Given the description of an element on the screen output the (x, y) to click on. 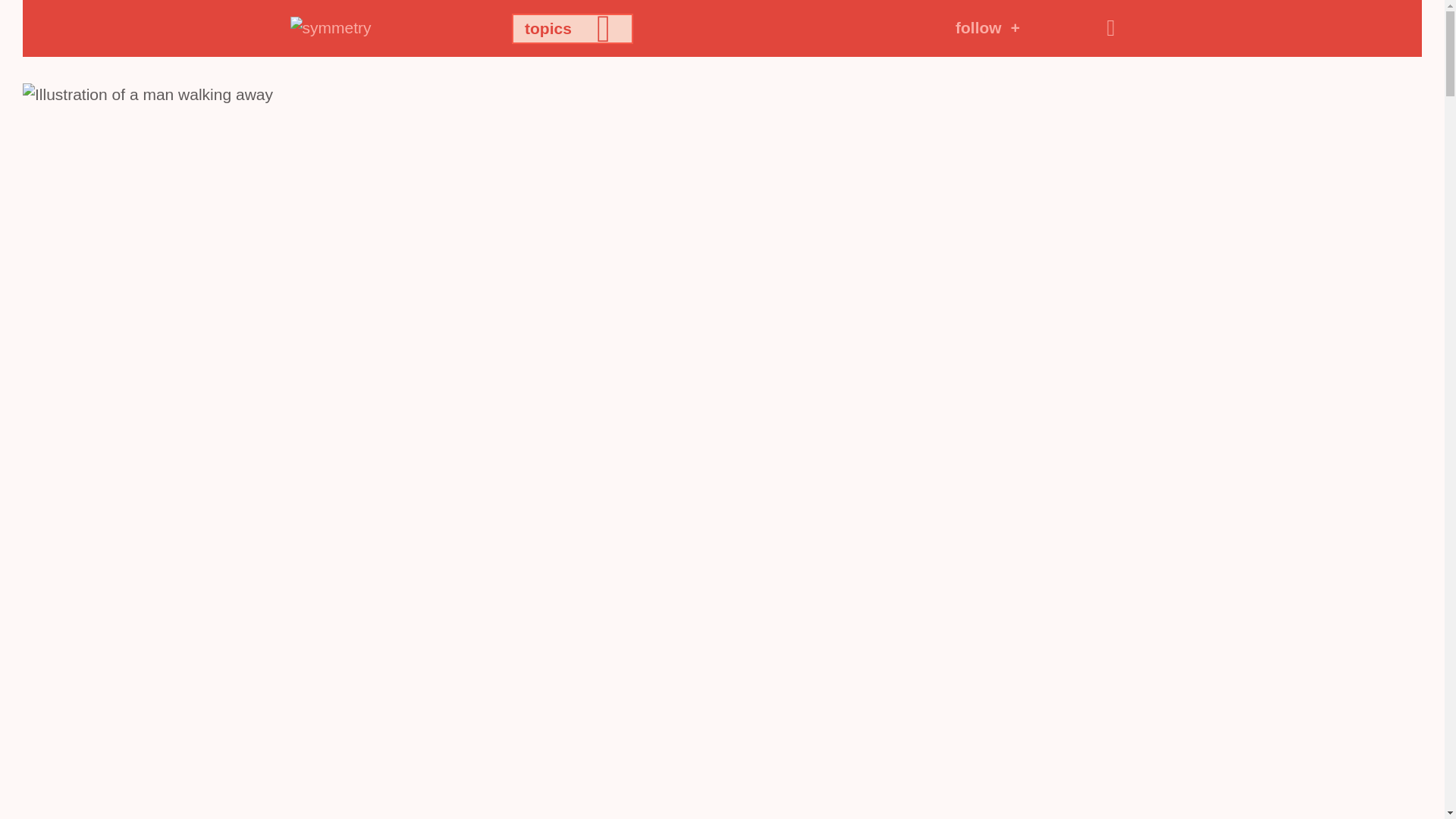
topics (572, 28)
follow (987, 27)
